Given the description of an element on the screen output the (x, y) to click on. 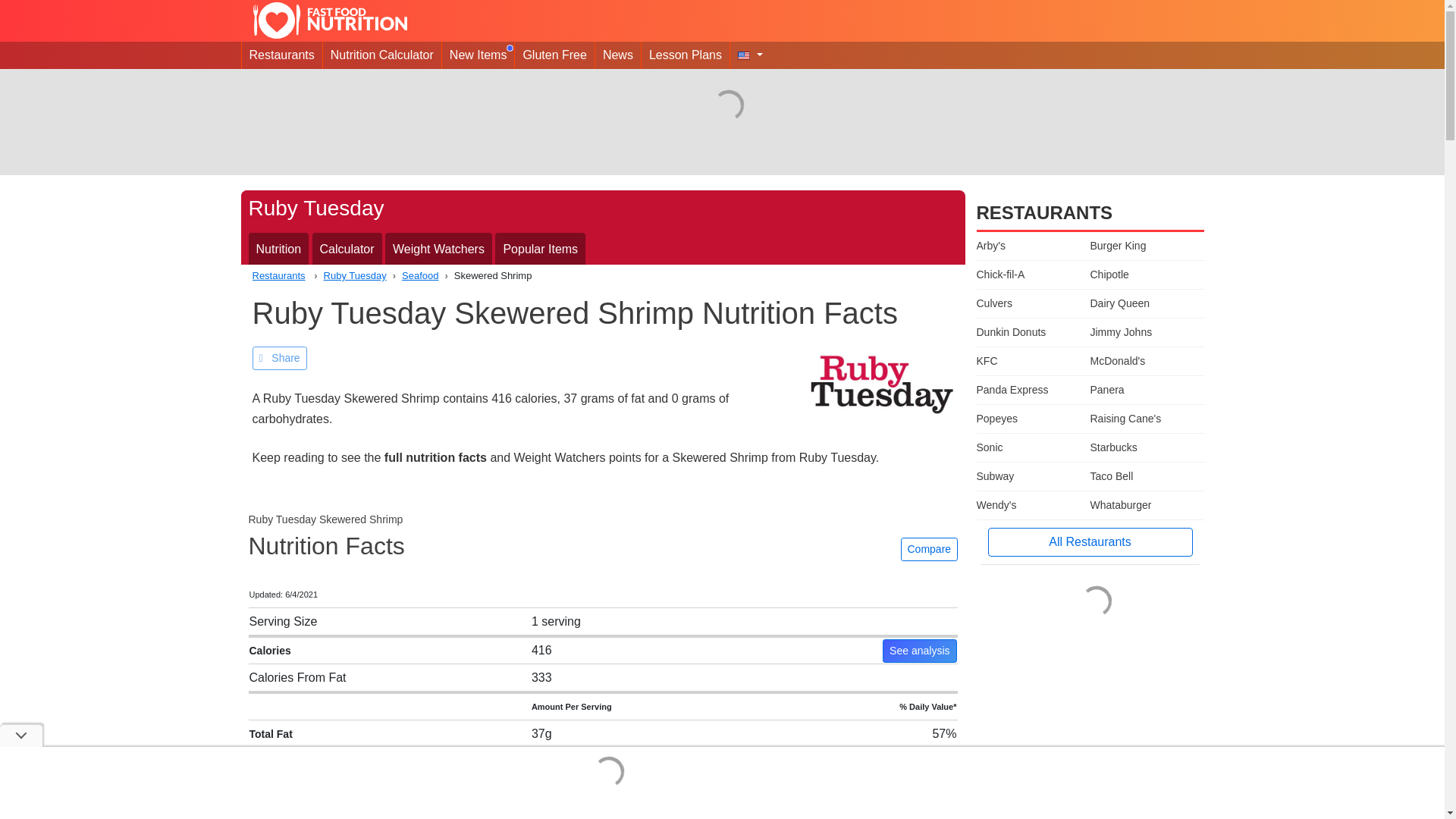
Restaurants (281, 54)
Lesson Plans (685, 54)
Calories From Fat (297, 676)
Serving Size (282, 620)
Trans Fat (279, 789)
Gluten Free (554, 54)
Ruby Tuesday Nutrition (278, 249)
Popular Items (540, 249)
Nutrition Calculator Weight Watchers Popular Items (603, 245)
Cholesterol (277, 815)
